Given the description of an element on the screen output the (x, y) to click on. 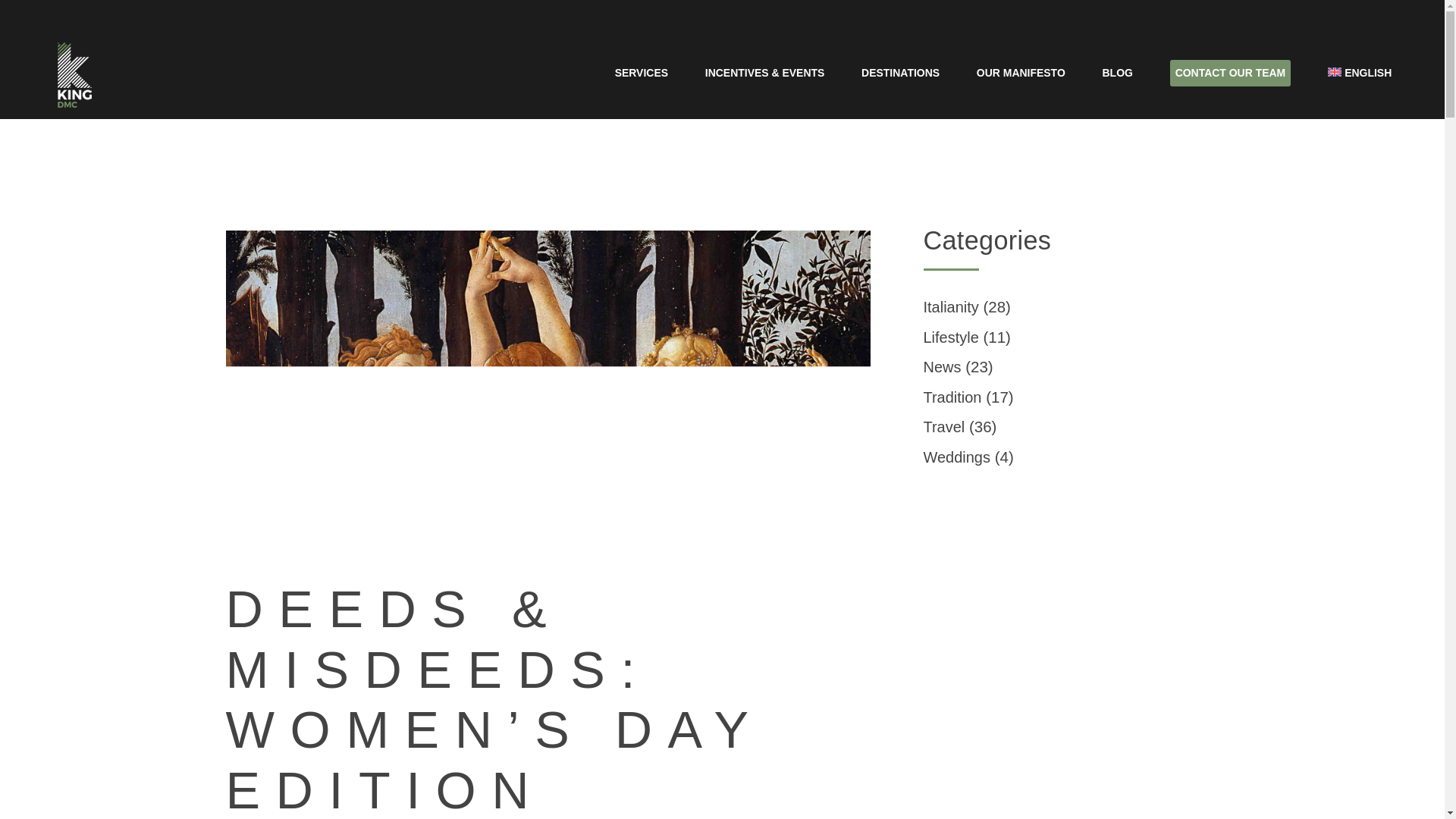
BLOG (1117, 72)
DESTINATIONS (900, 72)
OUR MANIFESTO (1021, 72)
ENGLISH (1359, 72)
SERVICES (640, 72)
English (1359, 72)
CONTACT OUR TEAM (1230, 74)
